Given the description of an element on the screen output the (x, y) to click on. 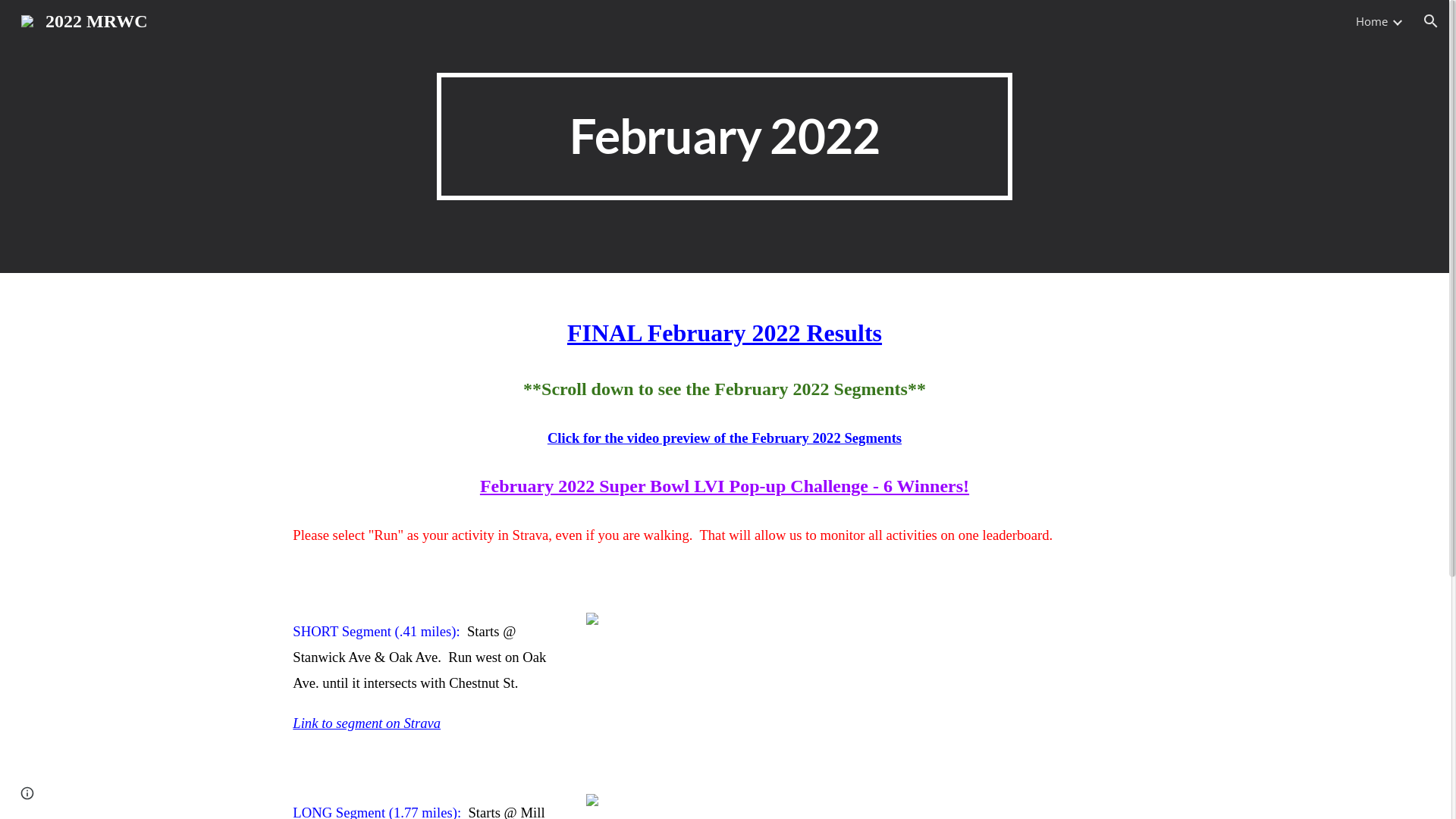
Expand/Collapse Element type: hover (1396, 20)
Click for the video preview of the February 2022 Segments Element type: text (724, 437)
2022 MRWC Element type: text (84, 19)
Home Element type: text (1371, 20)
FINAL February 2022 Results Element type: text (724, 332)
February 2022 Super Bowl LVI Pop-up Challenge - 6 Winners! Element type: text (724, 485)
Link to segment on Strava Element type: text (366, 723)
